Given the description of an element on the screen output the (x, y) to click on. 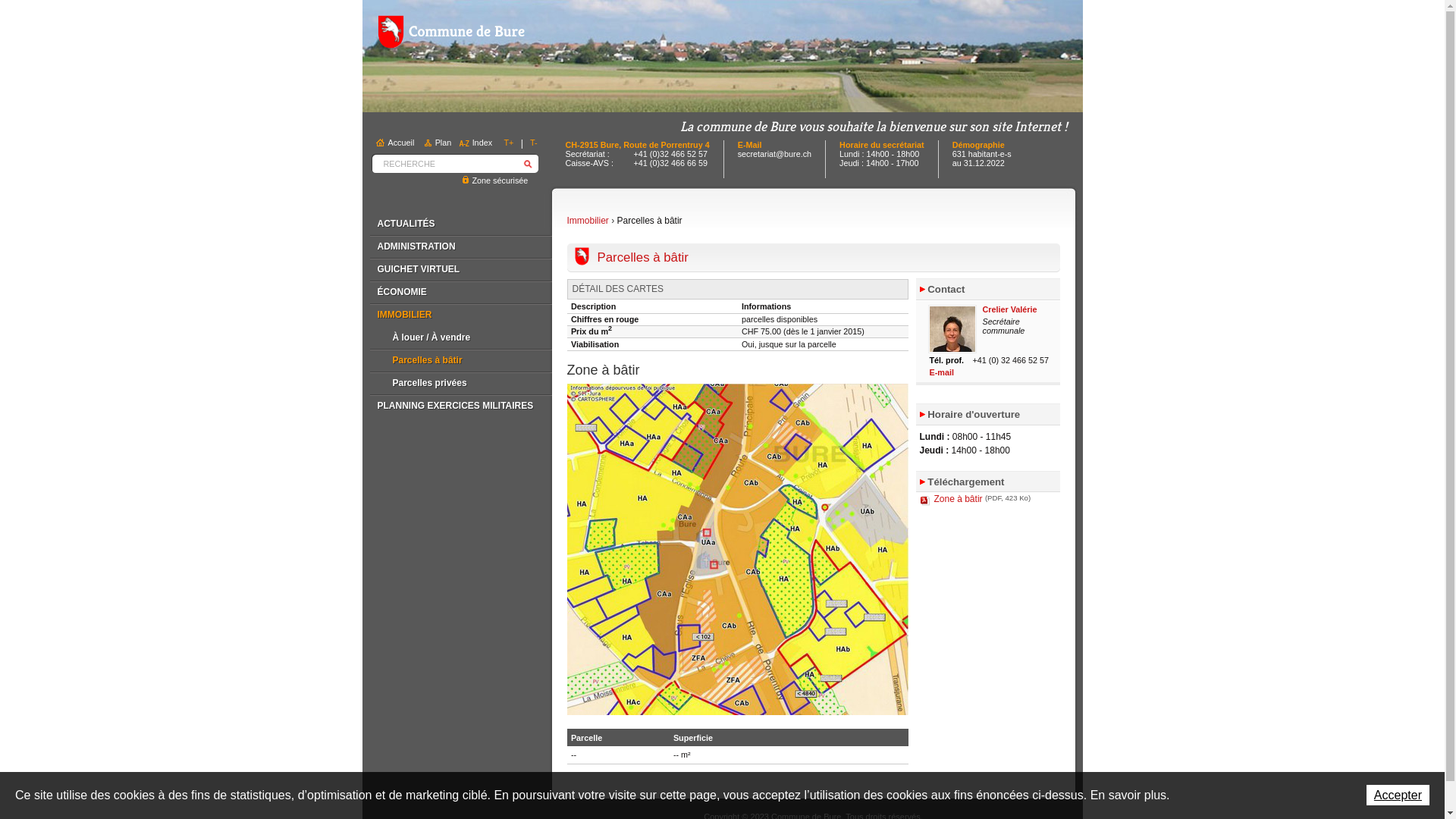
Plan Element type: text (438, 142)
Immobilier Element type: text (587, 220)
Accueil Element type: text (396, 142)
T- Element type: text (533, 142)
Index Element type: text (477, 142)
secretariat@bure.ch Element type: text (774, 153)
T+ Element type: text (507, 142)
ADMINISTRATION Element type: text (461, 246)
Rechercher Element type: text (527, 163)
GUICHET VIRTUEL Element type: text (461, 268)
Commune de Bure Element type: text (450, 31)
E-mail Element type: text (941, 371)
Accepter Element type: text (1397, 794)
PLANNING EXERCICES MILITAIRES Element type: text (461, 405)
IMMOBILIER Element type: text (461, 314)
